Given the description of an element on the screen output the (x, y) to click on. 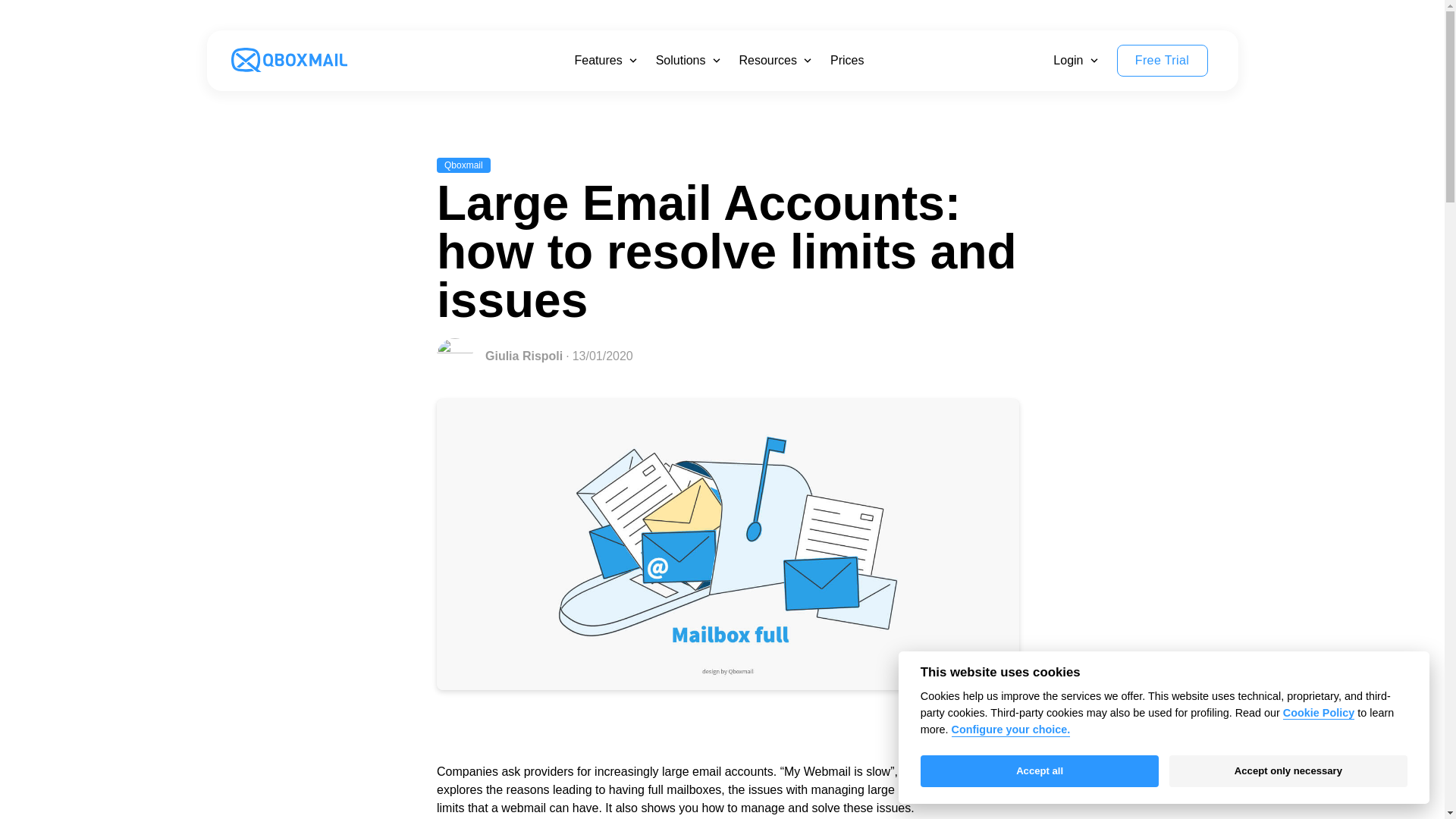
Features (599, 60)
Resources (767, 60)
Solutions (681, 60)
